Given the description of an element on the screen output the (x, y) to click on. 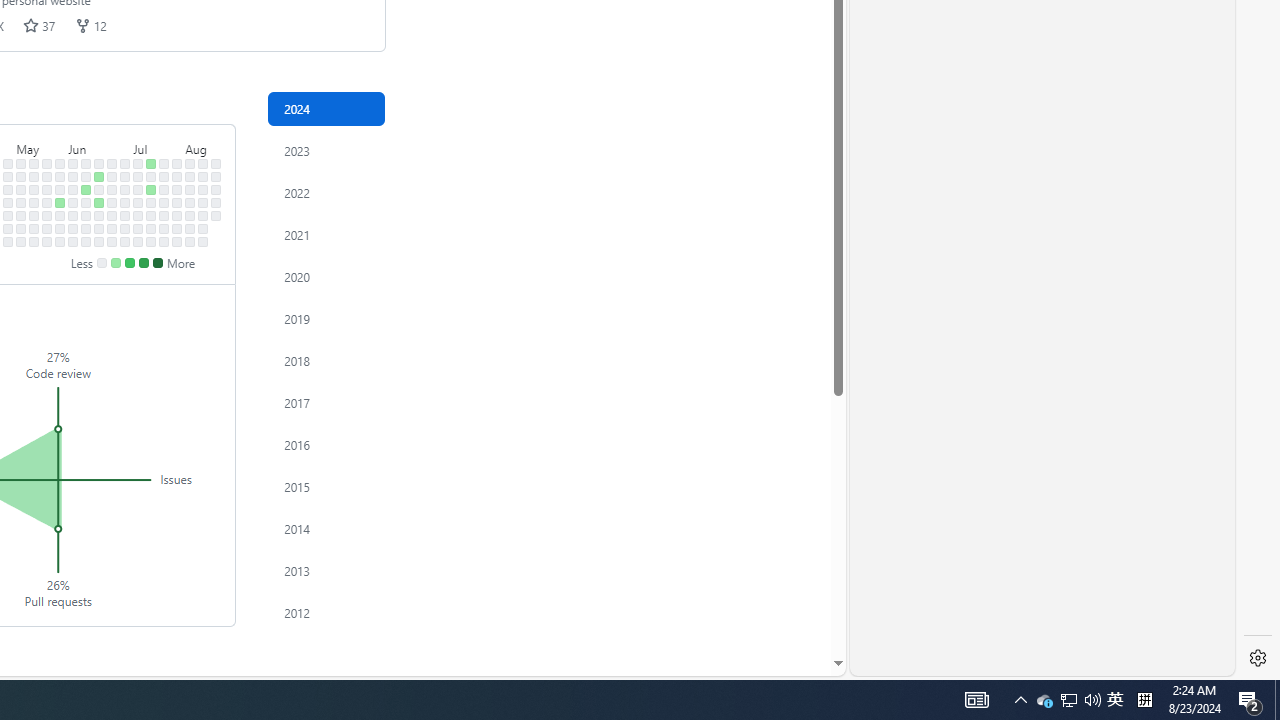
No contributions on July 18th. (151, 215)
No contributions on June 8th. (73, 241)
No contributions on July 24th. (164, 202)
No contributions on April 29th. (8, 176)
August (203, 145)
No contributions on August 7th. (190, 202)
No contributions on August 9th. (190, 228)
No contributions on June 30th. (125, 163)
No contributions on June 3rd. (73, 176)
No contributions on June 12th. (86, 202)
forks 12 (90, 25)
No contributions on May 7th. (20, 189)
No contributions on August 19th. (216, 176)
No contributions on August 1st. (177, 215)
No contributions on July 25th. (164, 215)
